Given the description of an element on the screen output the (x, y) to click on. 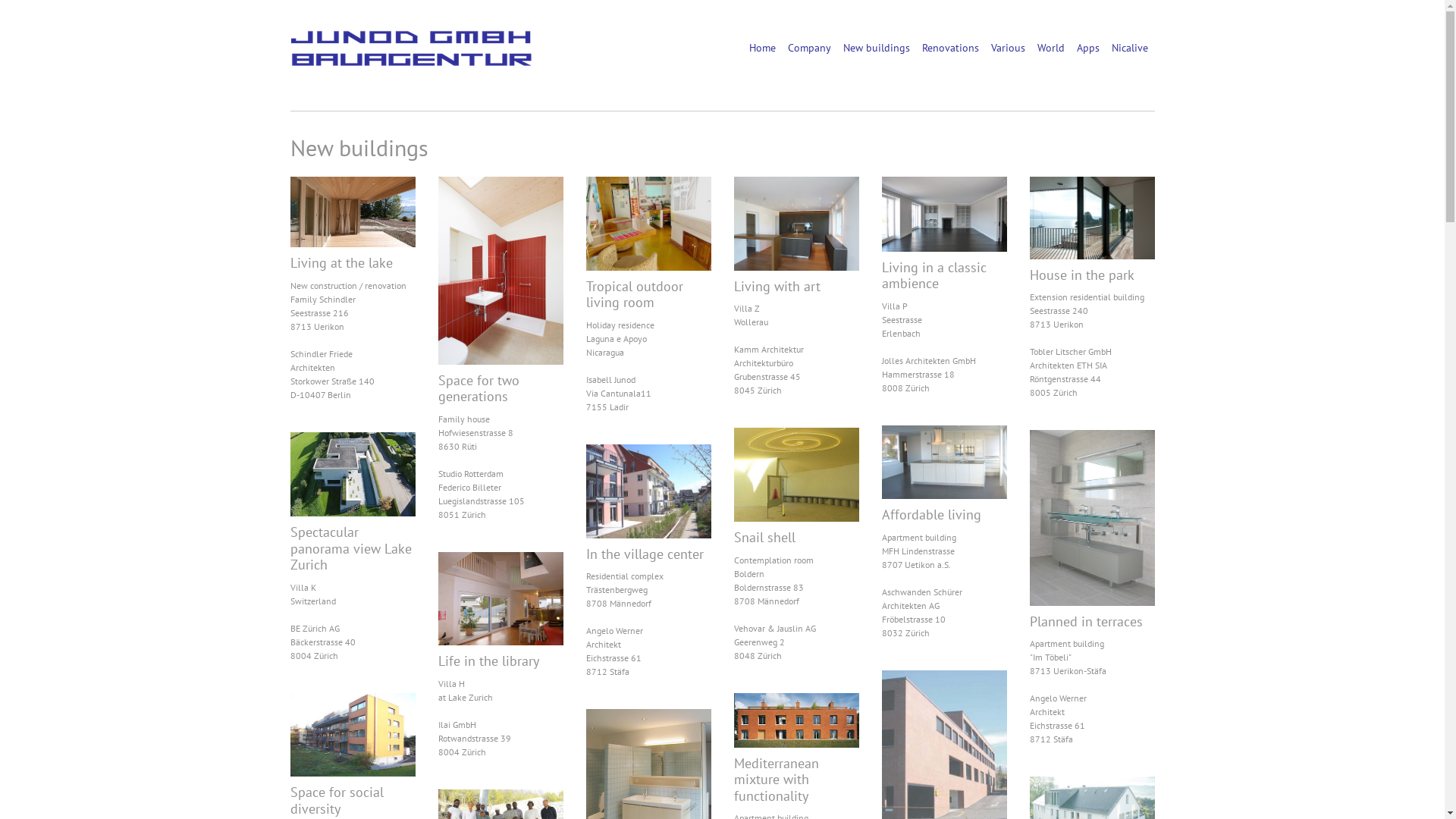
Home Element type: text (762, 47)
Company Element type: text (808, 47)
Nicalive Element type: text (1129, 47)
World Element type: text (1050, 47)
Apps Element type: text (1087, 47)
Various Element type: text (1007, 47)
Renovations Element type: text (950, 47)
New buildings Element type: text (876, 47)
